Given the description of an element on the screen output the (x, y) to click on. 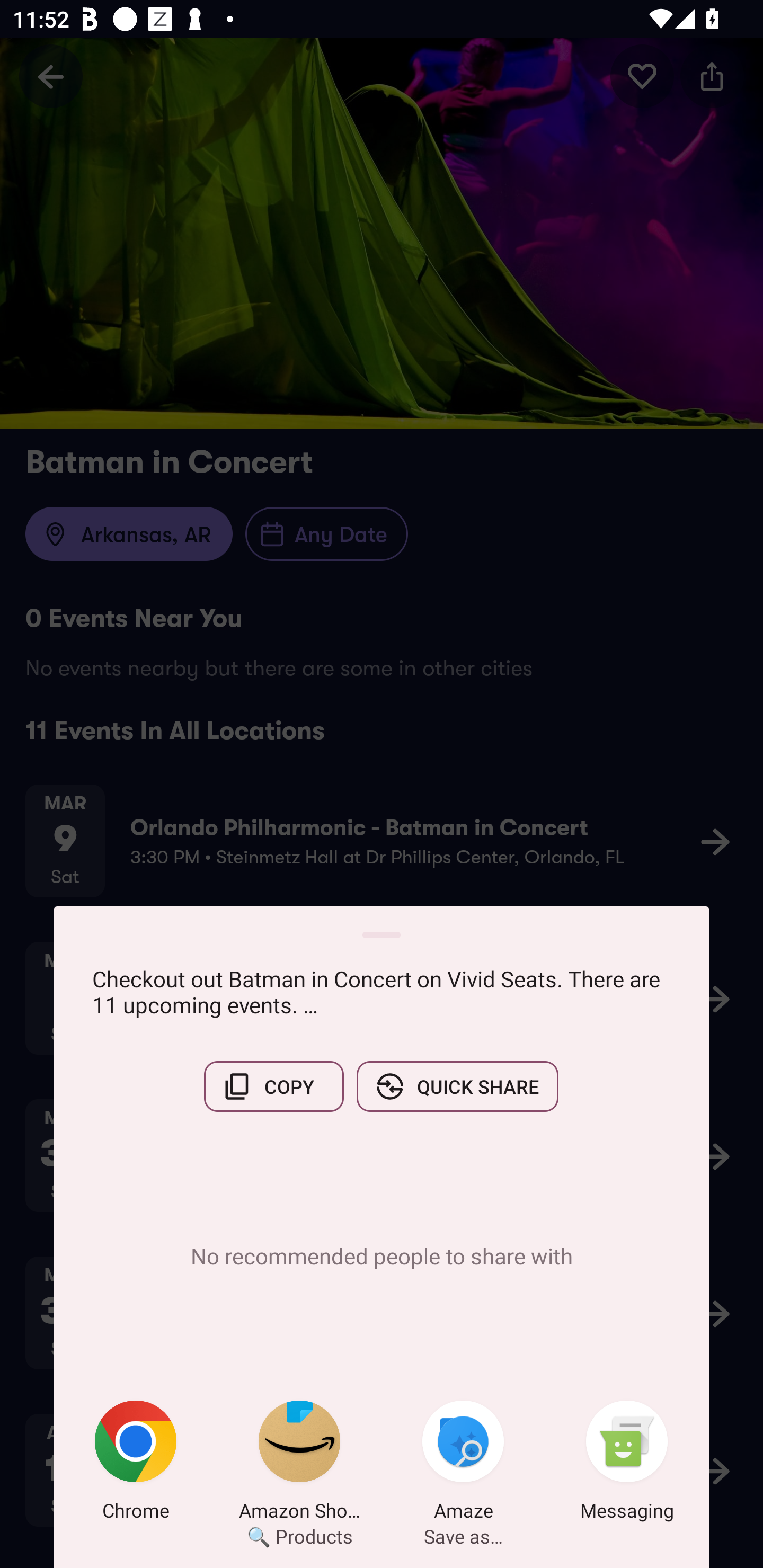
COPY (273, 1086)
QUICK SHARE (457, 1086)
Chrome (135, 1463)
Amazon Shopping 🔍 Products (299, 1463)
Amaze Save as… (463, 1463)
Messaging (626, 1463)
